Given the description of an element on the screen output the (x, y) to click on. 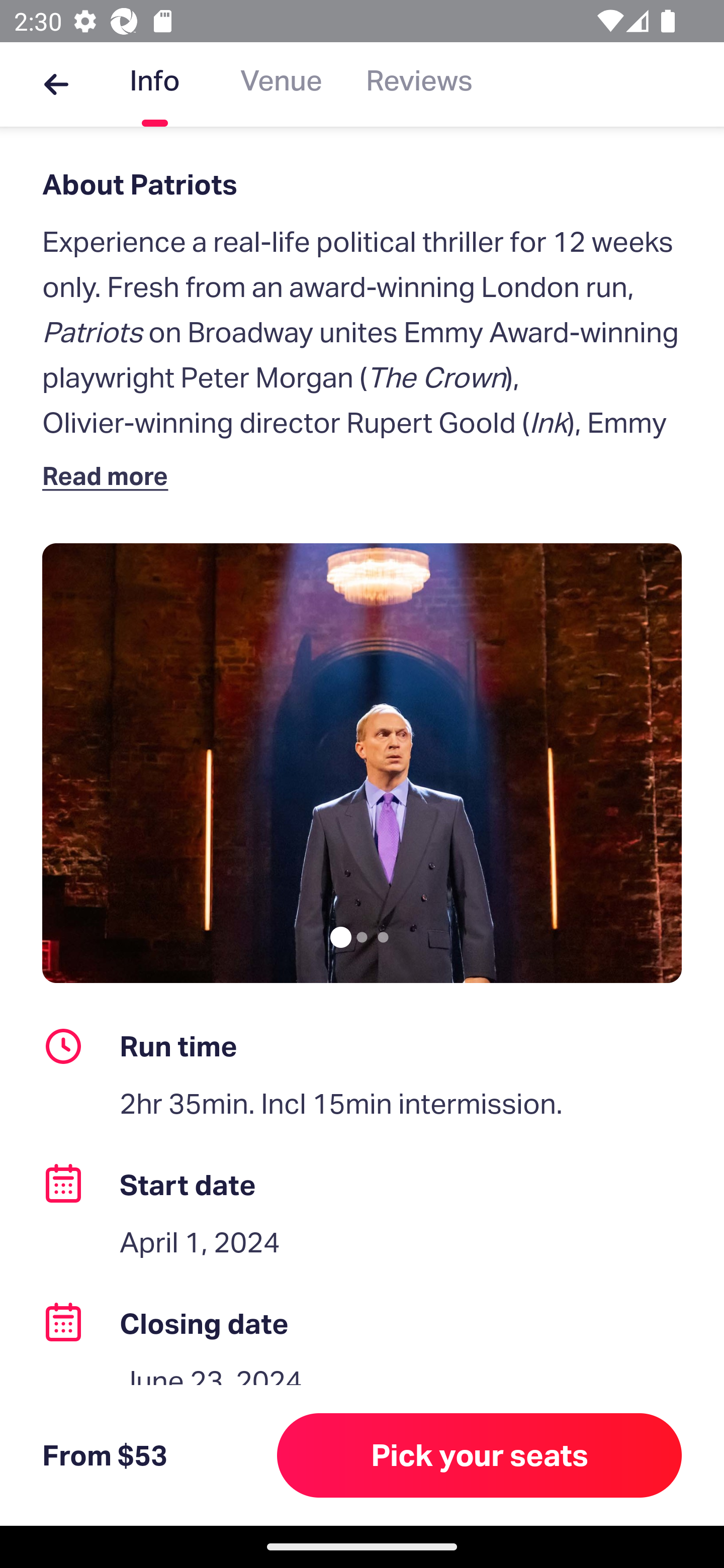
Venue (280, 84)
Reviews (419, 84)
About Patriots (361, 184)
Read more (109, 475)
Pick your seats (479, 1454)
